Given the description of an element on the screen output the (x, y) to click on. 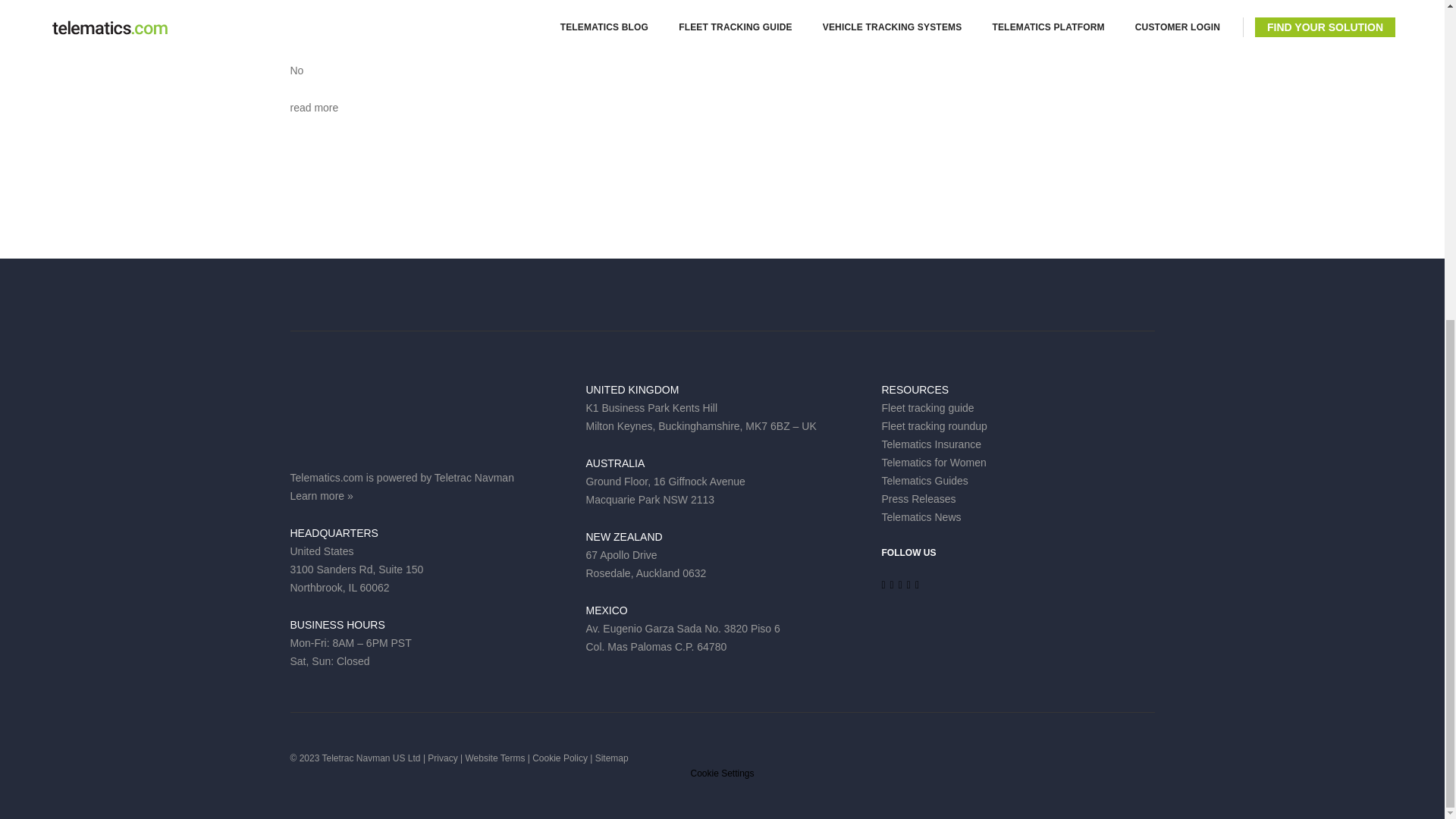
Telematics News (920, 517)
Telematics Insurance (930, 444)
MEXICO (606, 610)
Press Releases (917, 499)
NEW ZEALAND (623, 536)
Telematics Guides (924, 480)
UNITED KINGDOM (631, 389)
Fleet tracking guide (927, 408)
Privacy (442, 757)
Telematics for Women (932, 462)
AUSTRALIA (615, 463)
Fleet Management Software and GPS Tracking - Teletrac Navman (357, 413)
Fleet tracking roundup (933, 426)
